Given the description of an element on the screen output the (x, y) to click on. 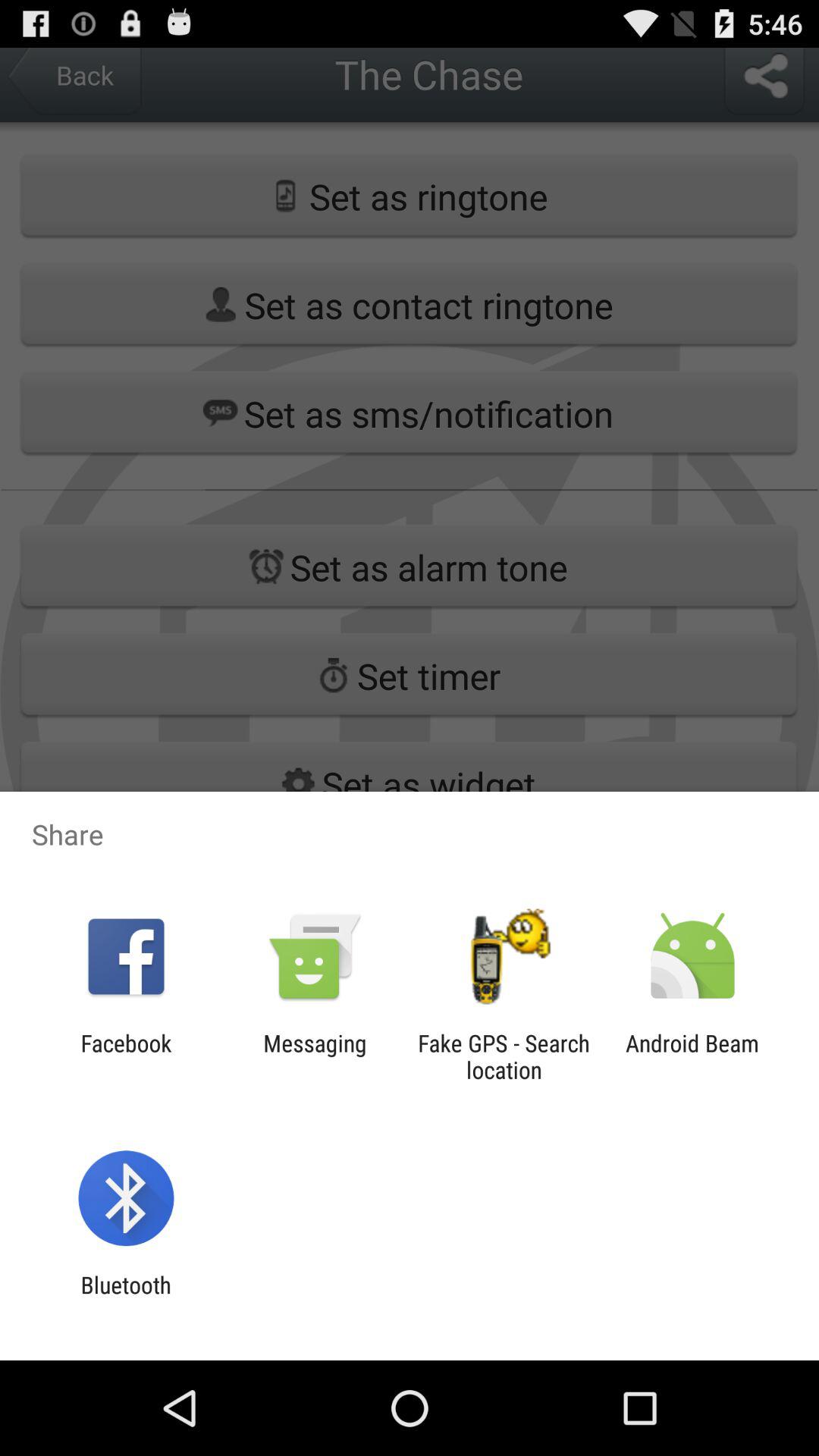
turn off the android beam item (692, 1056)
